Given the description of an element on the screen output the (x, y) to click on. 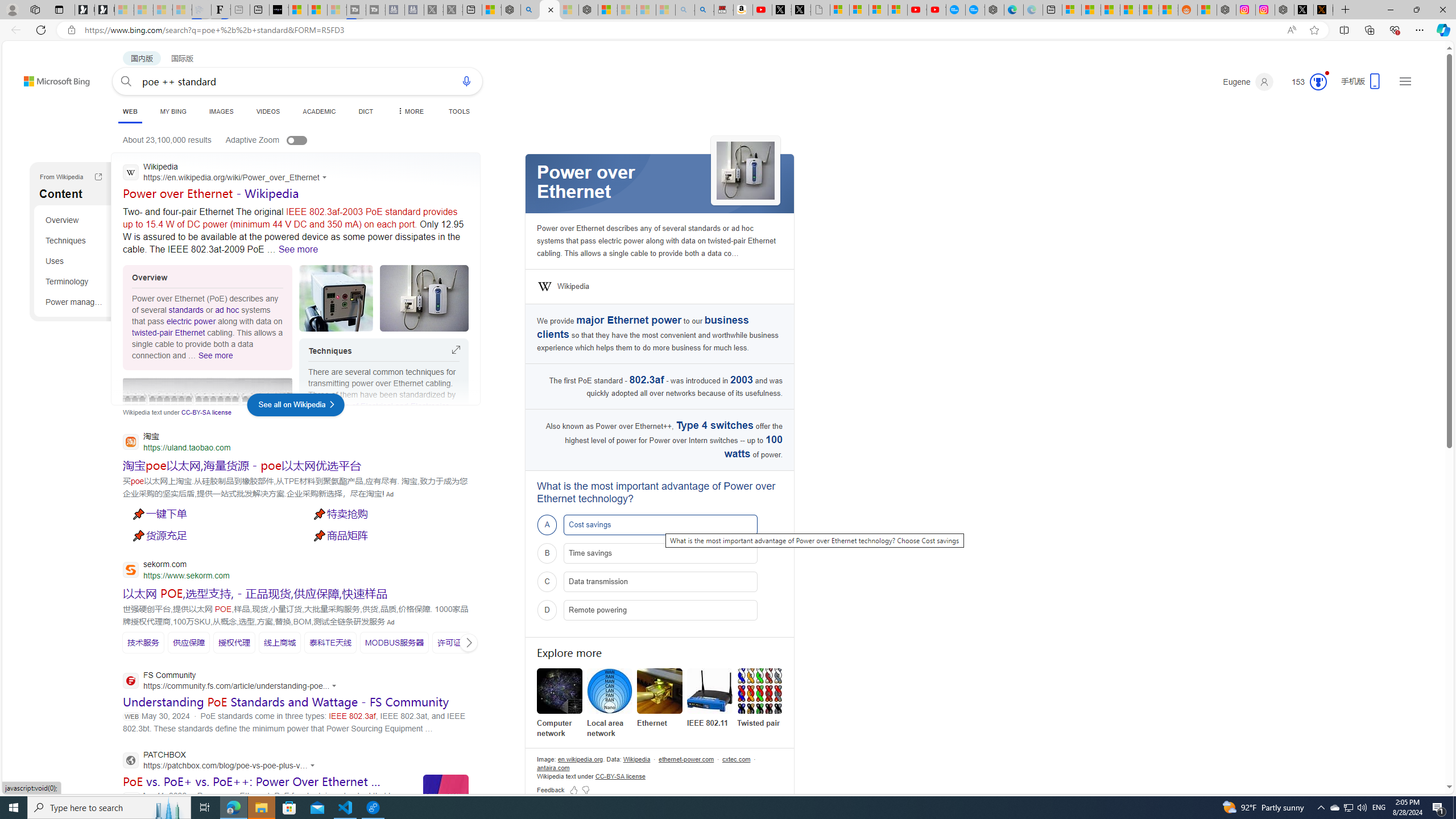
Uses (74, 260)
Nordace - Nordace has arrived Hong Kong (994, 9)
See more images of Power over Ethernet (745, 170)
MORE (410, 111)
Understanding PoE Standards and Wattage - FS Community (285, 701)
Local area network (608, 703)
PATCHBOX (221, 761)
SERP,5914 (241, 464)
Search using voice (465, 80)
Ethernet (659, 691)
